Given the description of an element on the screen output the (x, y) to click on. 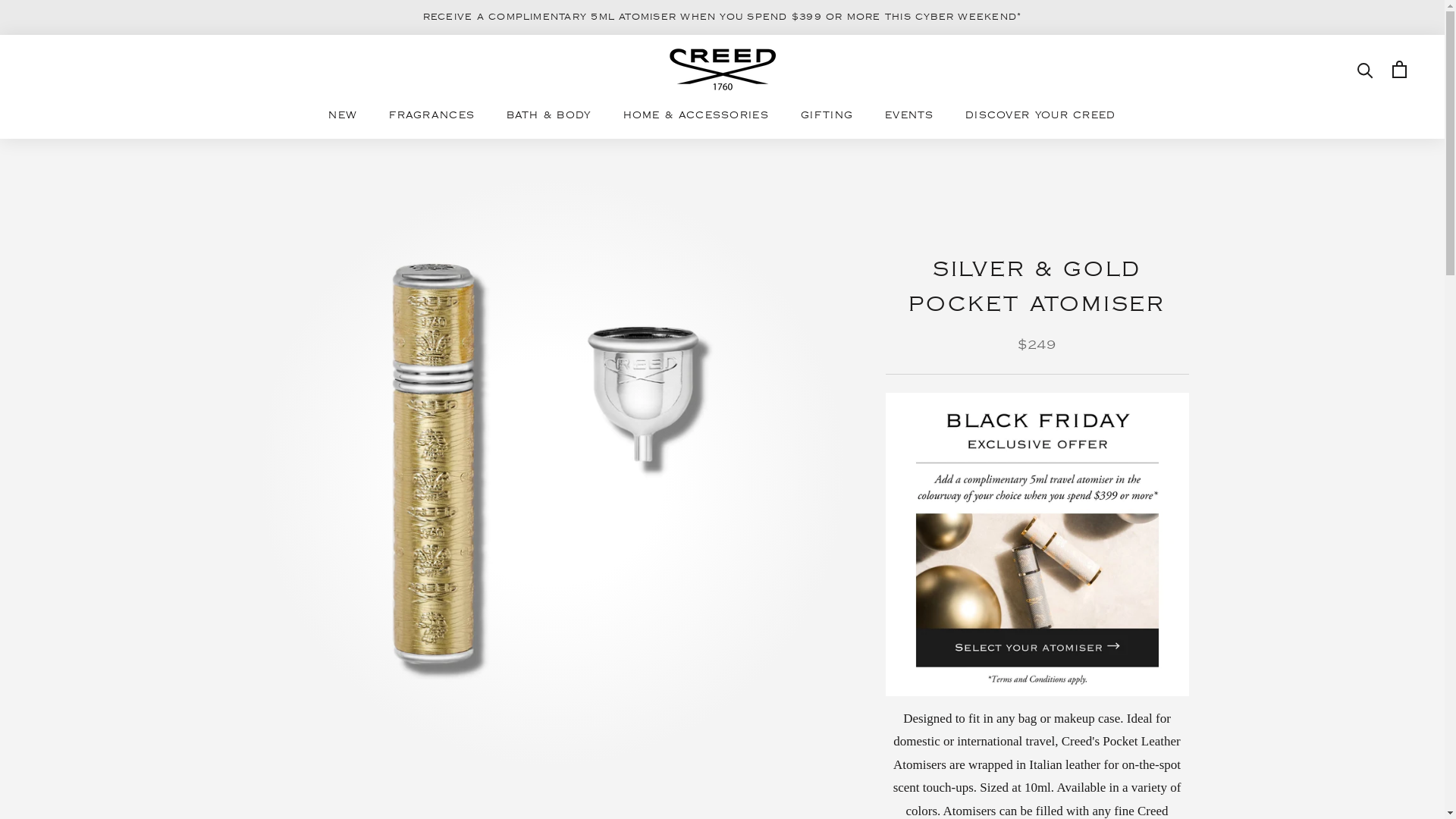
EVENTS
EVENTS Element type: text (908, 115)
HOME & ACCESSORIES Element type: text (695, 115)
DISCOVER YOUR CREED Element type: text (1040, 115)
NEW
NEW Element type: text (342, 115)
BATH & BODY Element type: text (548, 115)
GIFTING Element type: text (826, 115)
FRAGRANCES Element type: text (431, 115)
